Given the description of an element on the screen output the (x, y) to click on. 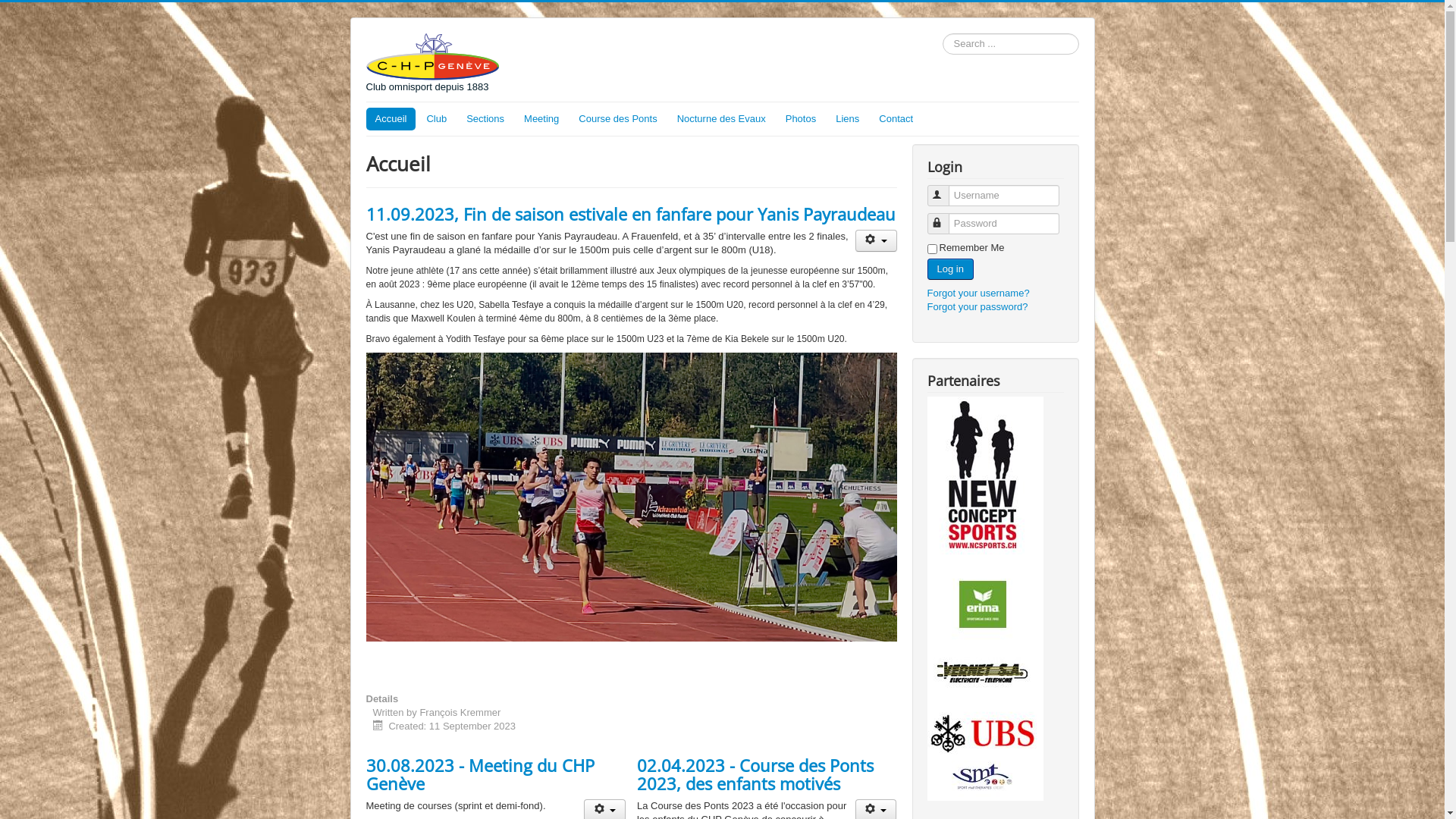
Photos Element type: text (800, 118)
Forgot your password? Element type: text (976, 306)
Meeting Element type: text (540, 118)
Accueil Element type: text (390, 118)
Sections Element type: text (485, 118)
Liens Element type: text (847, 118)
Club Element type: text (436, 118)
Club omnisport depuis 1883 Element type: text (431, 63)
Contact Element type: text (895, 118)
Course des Ponts Element type: text (617, 118)
Log in Element type: text (949, 268)
Nocturne des Evaux Element type: text (721, 118)
Forgot your username? Element type: text (977, 292)
